Given the description of an element on the screen output the (x, y) to click on. 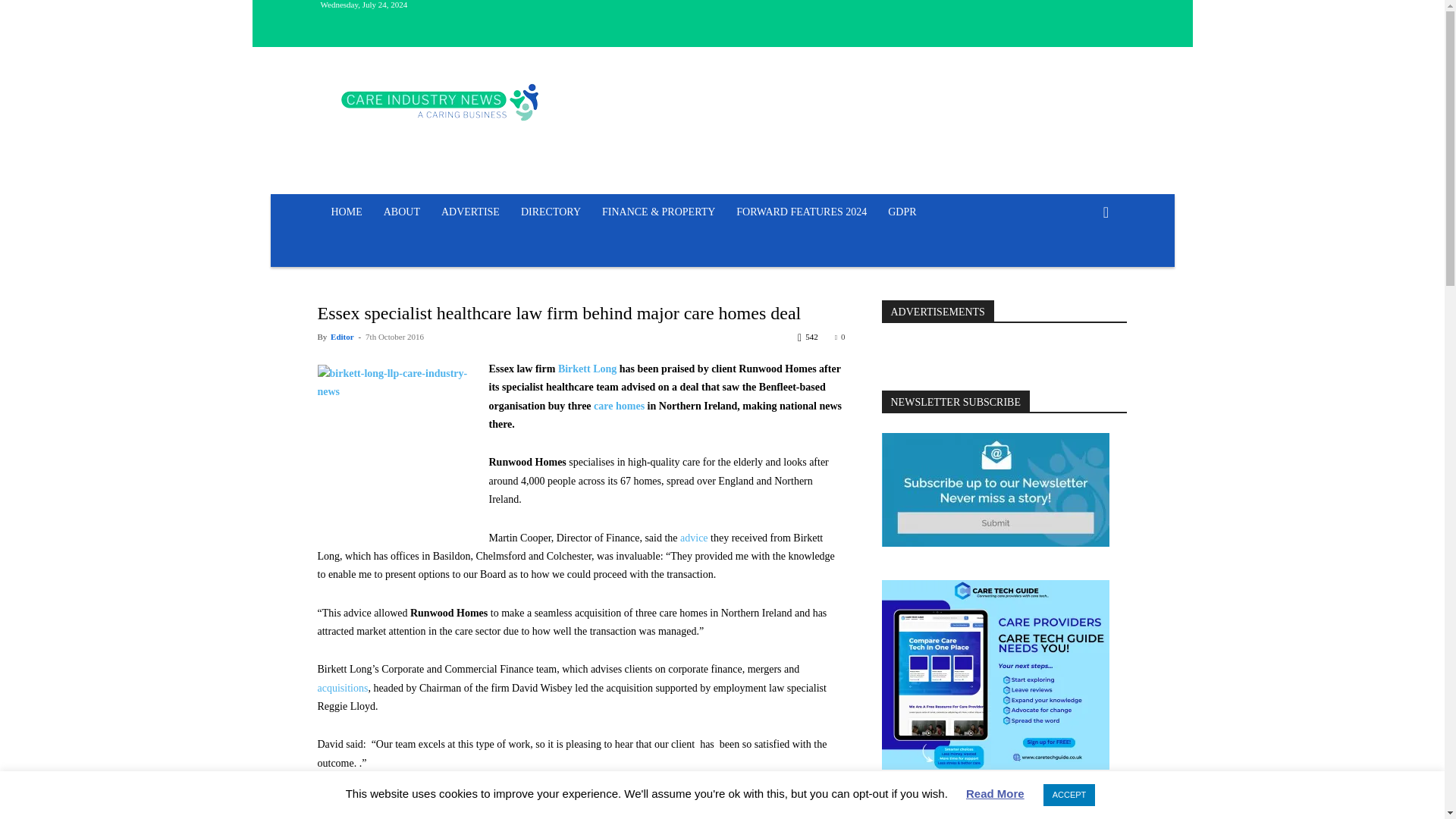
ADVERTISE (470, 212)
Care Industry News (439, 101)
0 (839, 336)
DIRECTORY (551, 212)
ABOUT (401, 212)
Birkett Long (588, 368)
care homes (619, 405)
HOME (346, 212)
advice (693, 537)
GDPR (901, 212)
FORWARD FEATURES 2024 (801, 212)
Editor (341, 336)
acquisitions (342, 687)
